Given the description of an element on the screen output the (x, y) to click on. 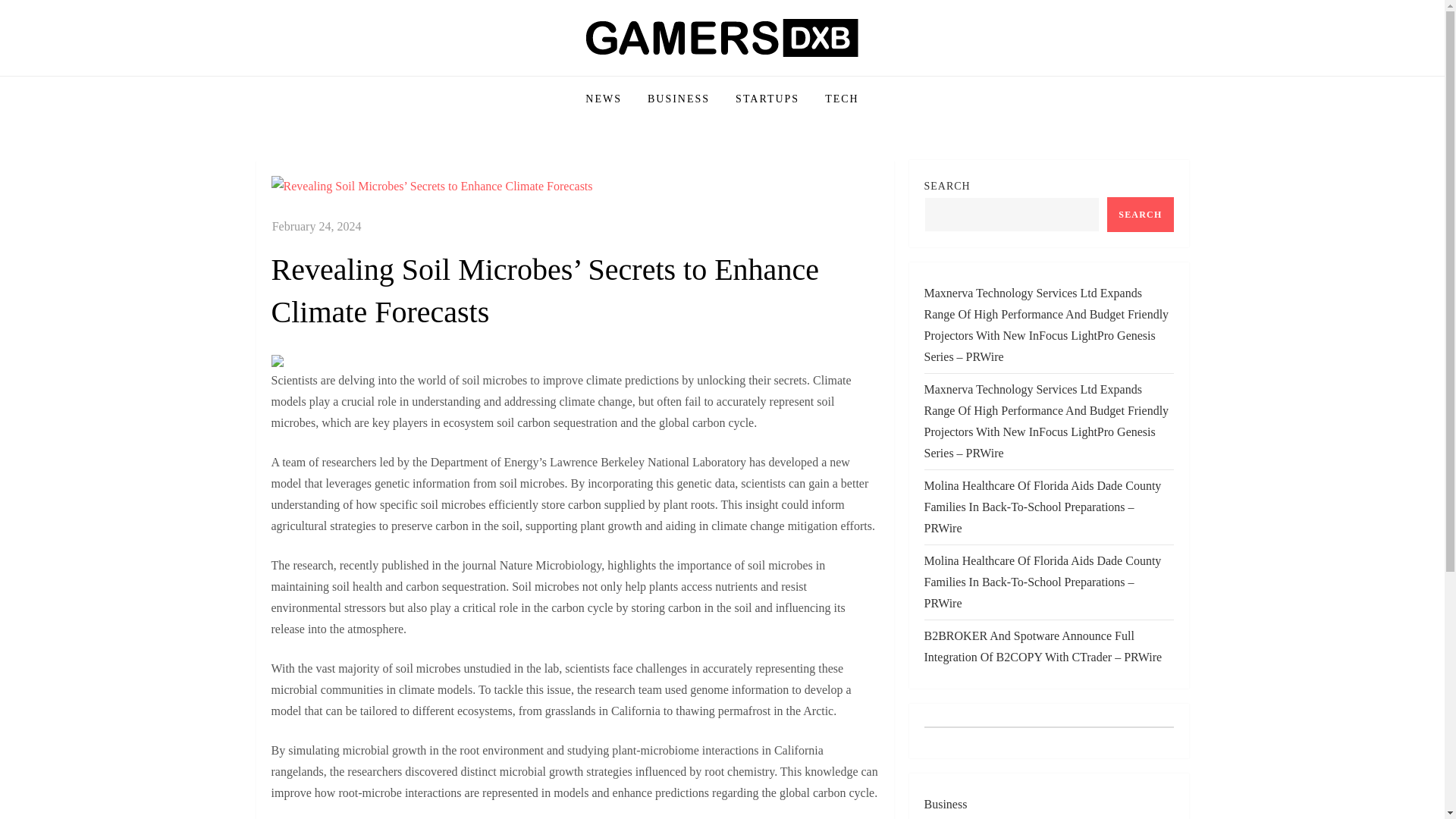
STARTUPS (766, 99)
NEWS (603, 99)
BUSINESS (678, 99)
TECH (841, 99)
Gamers DXB (339, 74)
SEARCH (1139, 214)
February 24, 2024 (316, 226)
Business (944, 803)
